Given the description of an element on the screen output the (x, y) to click on. 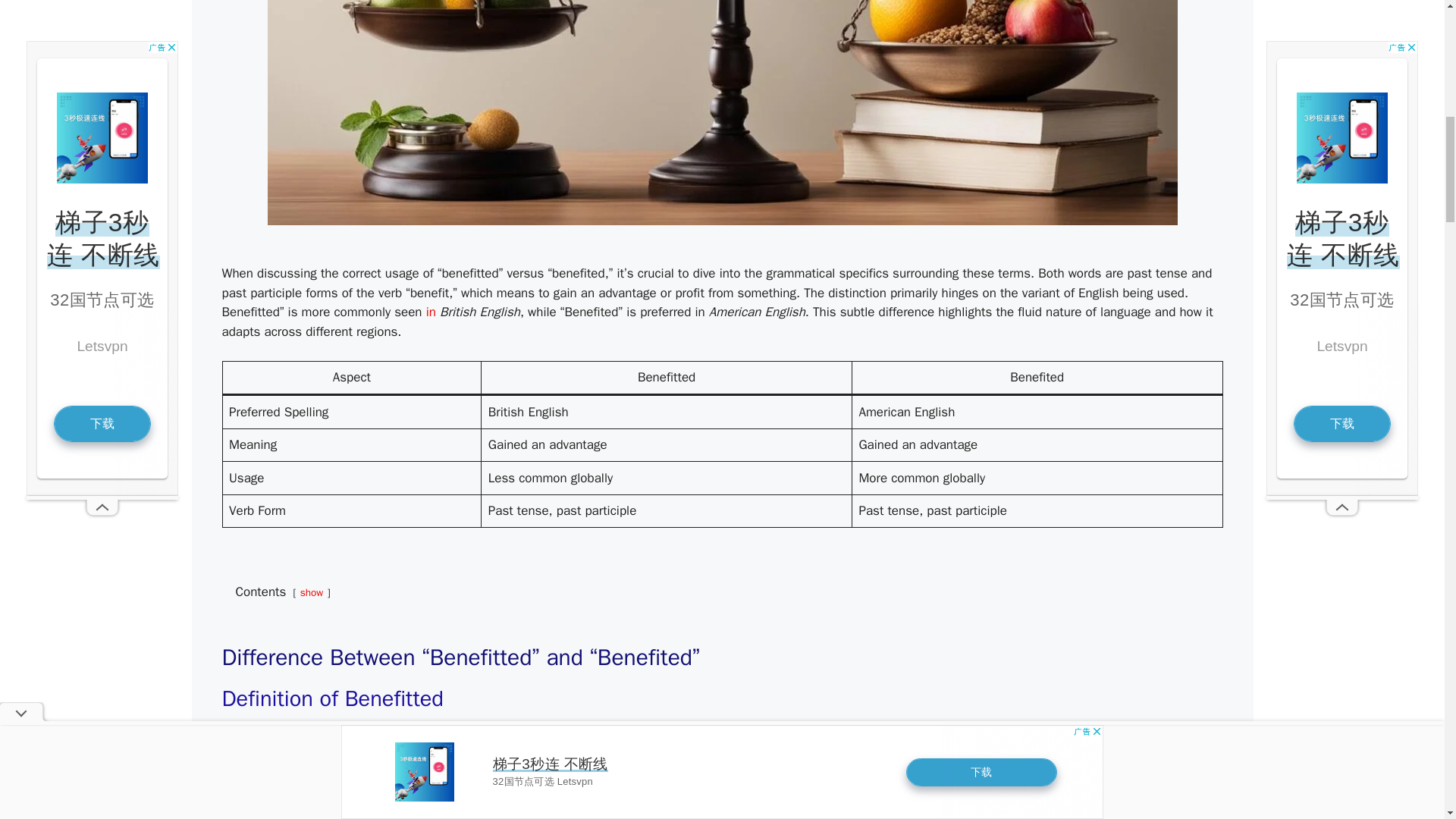
show (311, 592)
gain (590, 751)
in (430, 311)
in (430, 311)
Difference Between Benefitted or Benefited 1 (721, 220)
